Given the description of an element on the screen output the (x, y) to click on. 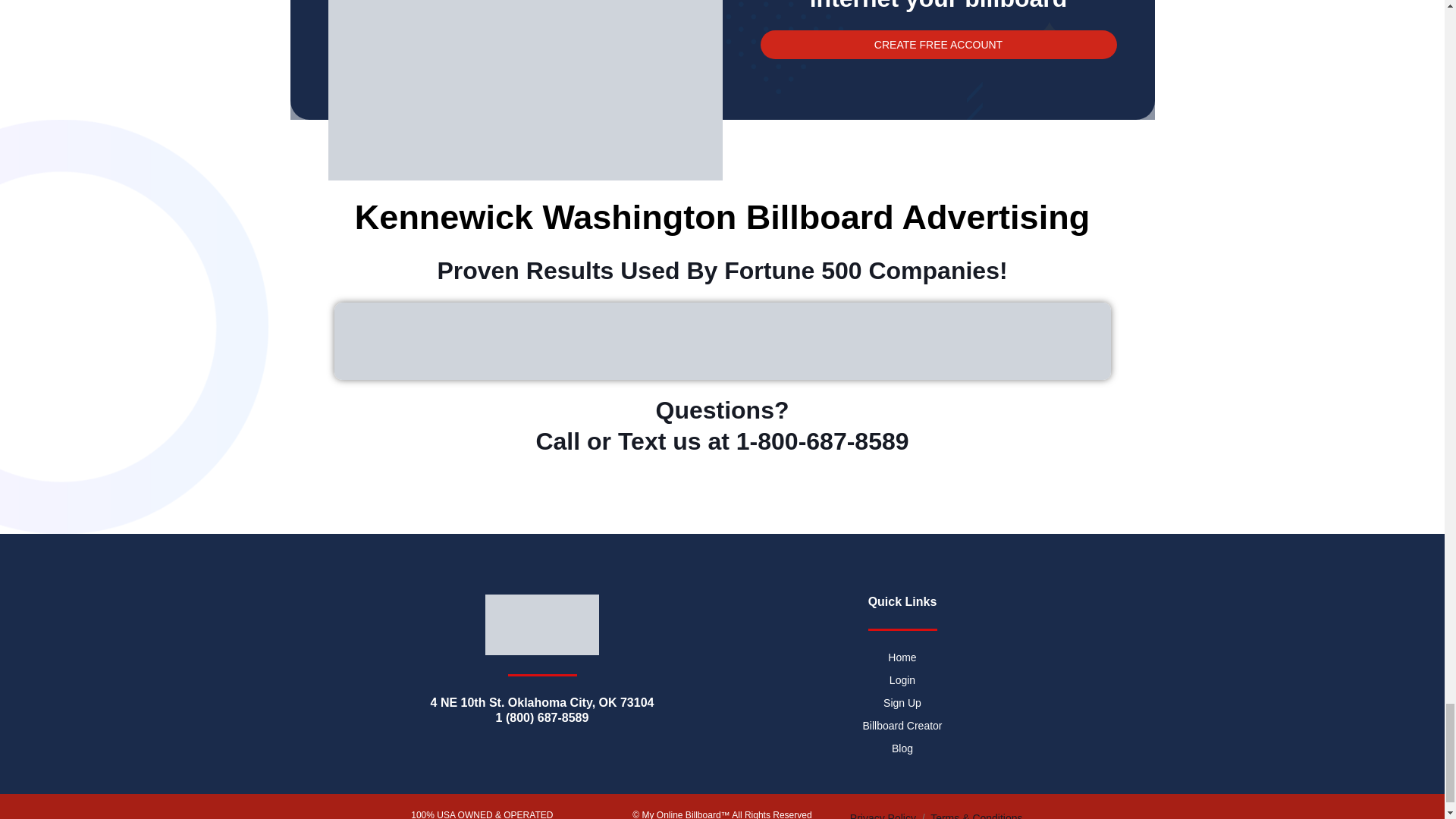
Blog (901, 748)
Kennewick Washington Billboard Advertising 5 (524, 90)
Kennewick Washington Billboard Advertising 6 (721, 341)
Sign Up (901, 702)
Home (901, 657)
Billboard Creator (901, 725)
Login (901, 679)
Privacy Policy (882, 815)
CREATE FREE ACCOUNT (938, 44)
